Given the description of an element on the screen output the (x, y) to click on. 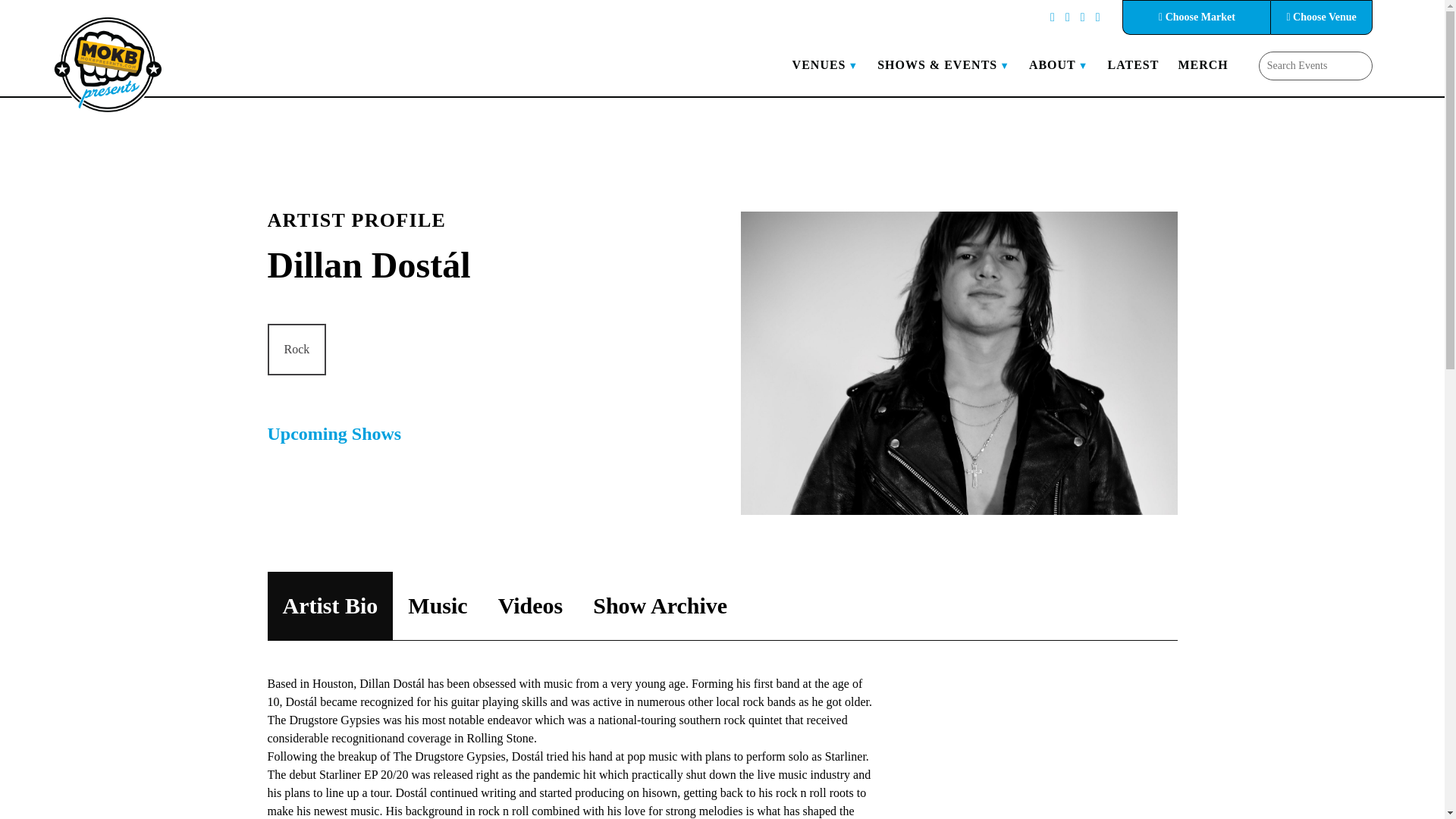
MOKB Presents (107, 64)
